Given the description of an element on the screen output the (x, y) to click on. 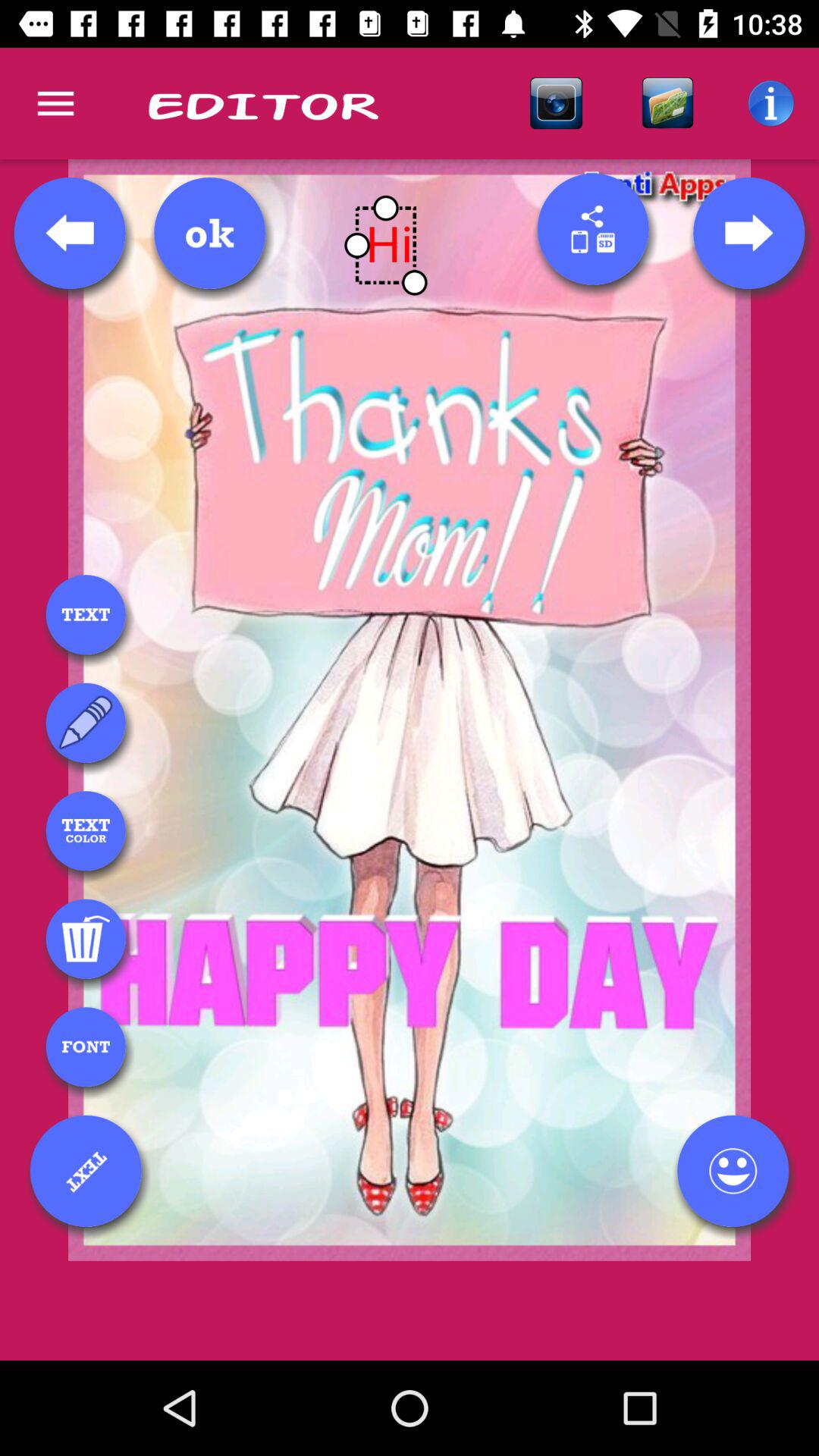
next template (749, 233)
